Given the description of an element on the screen output the (x, y) to click on. 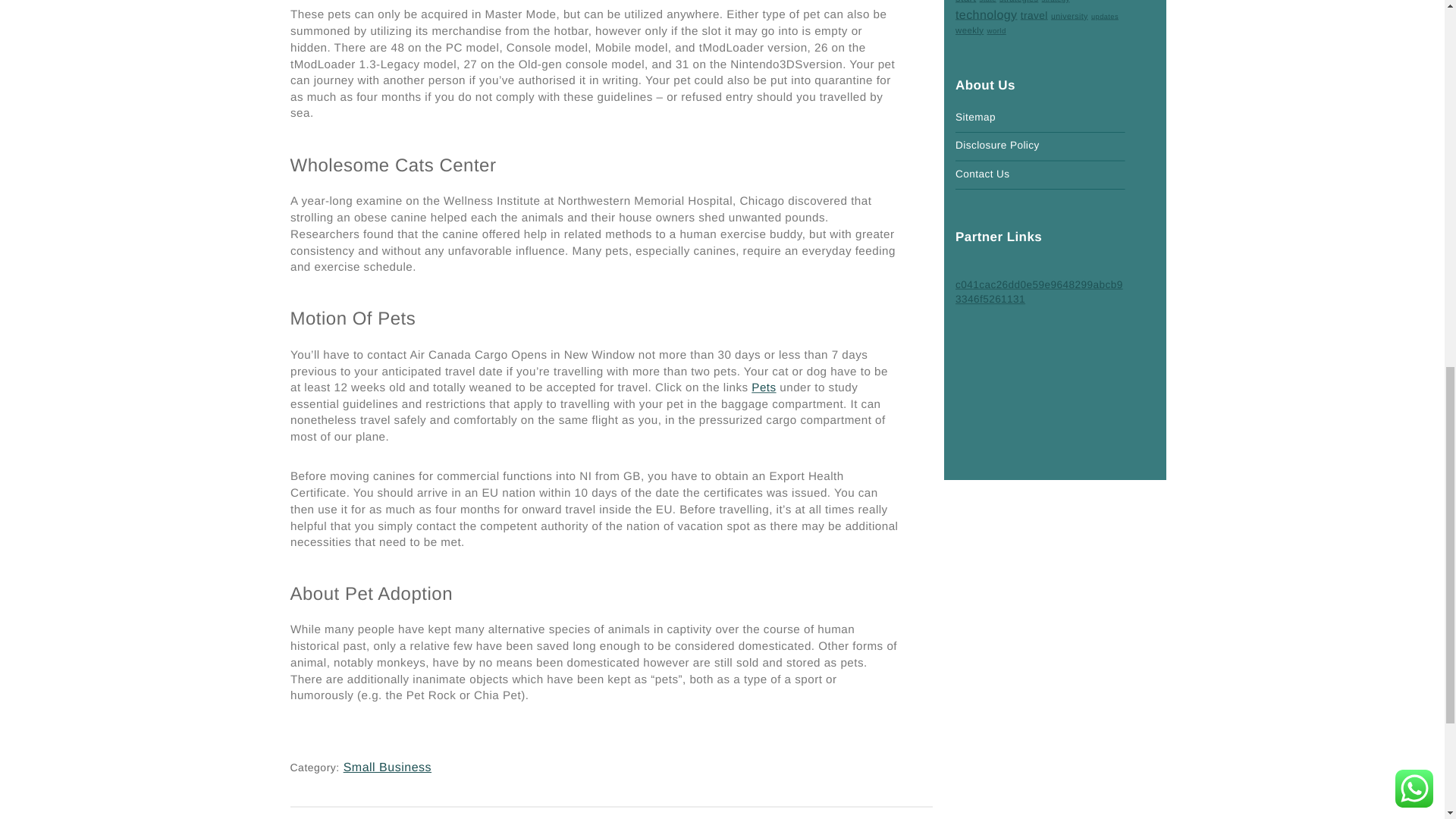
Pets (764, 388)
Small Business (386, 767)
